Given the description of an element on the screen output the (x, y) to click on. 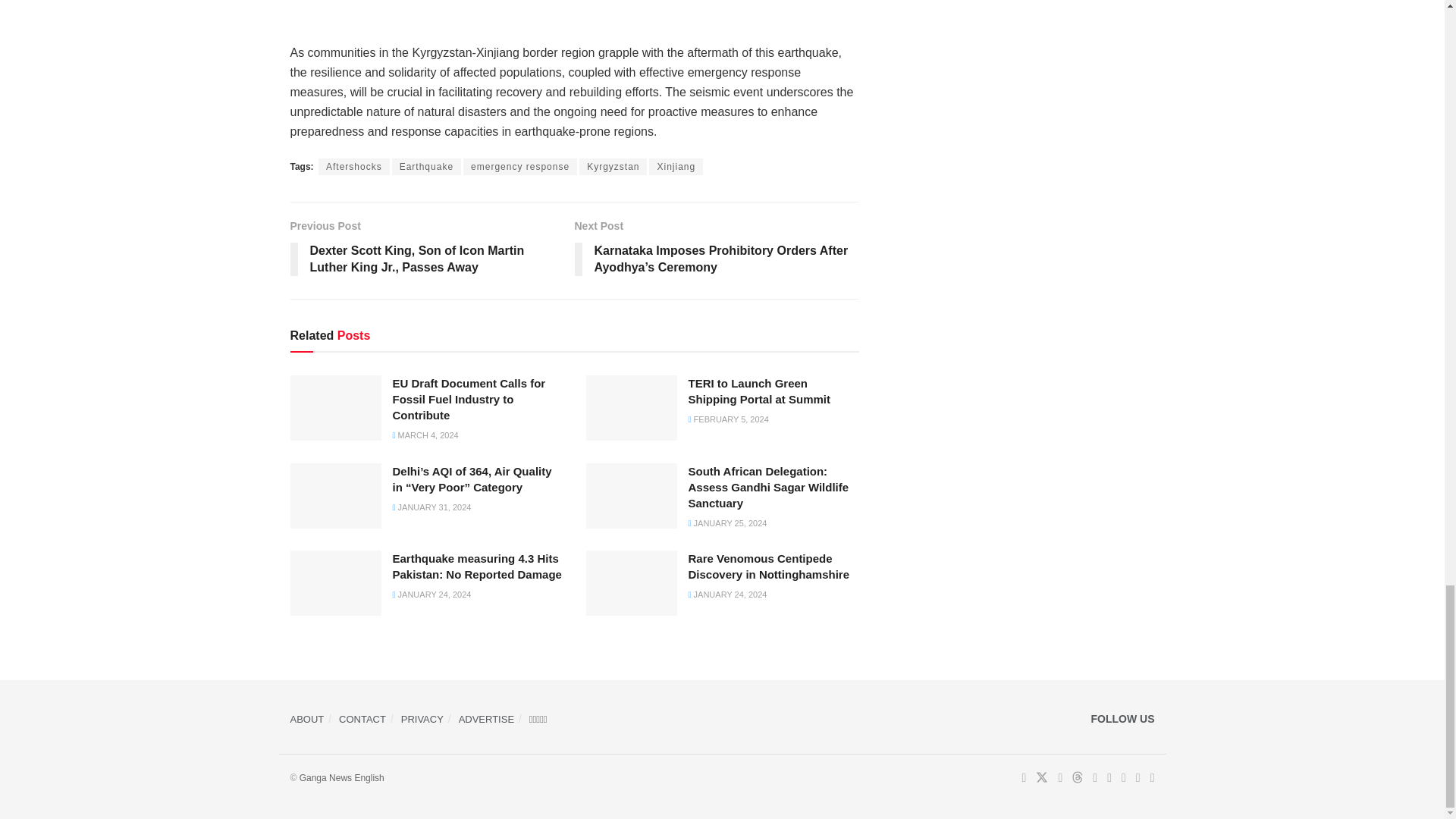
Ganga News English (341, 777)
